Given the description of an element on the screen output the (x, y) to click on. 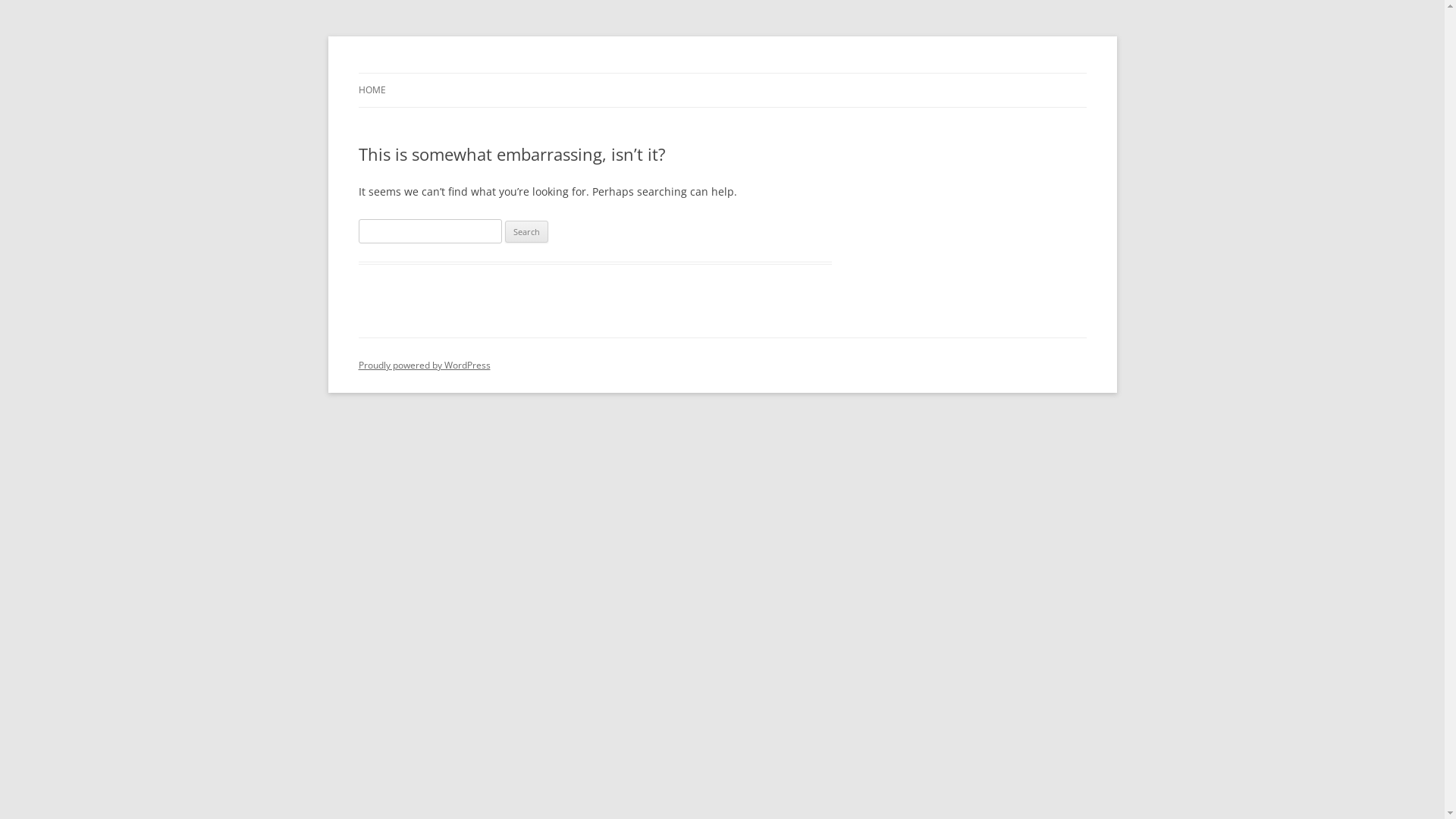
EIDN Dental Clinic Element type: text (443, 72)
Proudly powered by WordPress Element type: text (423, 364)
Skip to content Element type: text (721, 72)
Search Element type: text (526, 231)
HOME Element type: text (371, 89)
